Given the description of an element on the screen output the (x, y) to click on. 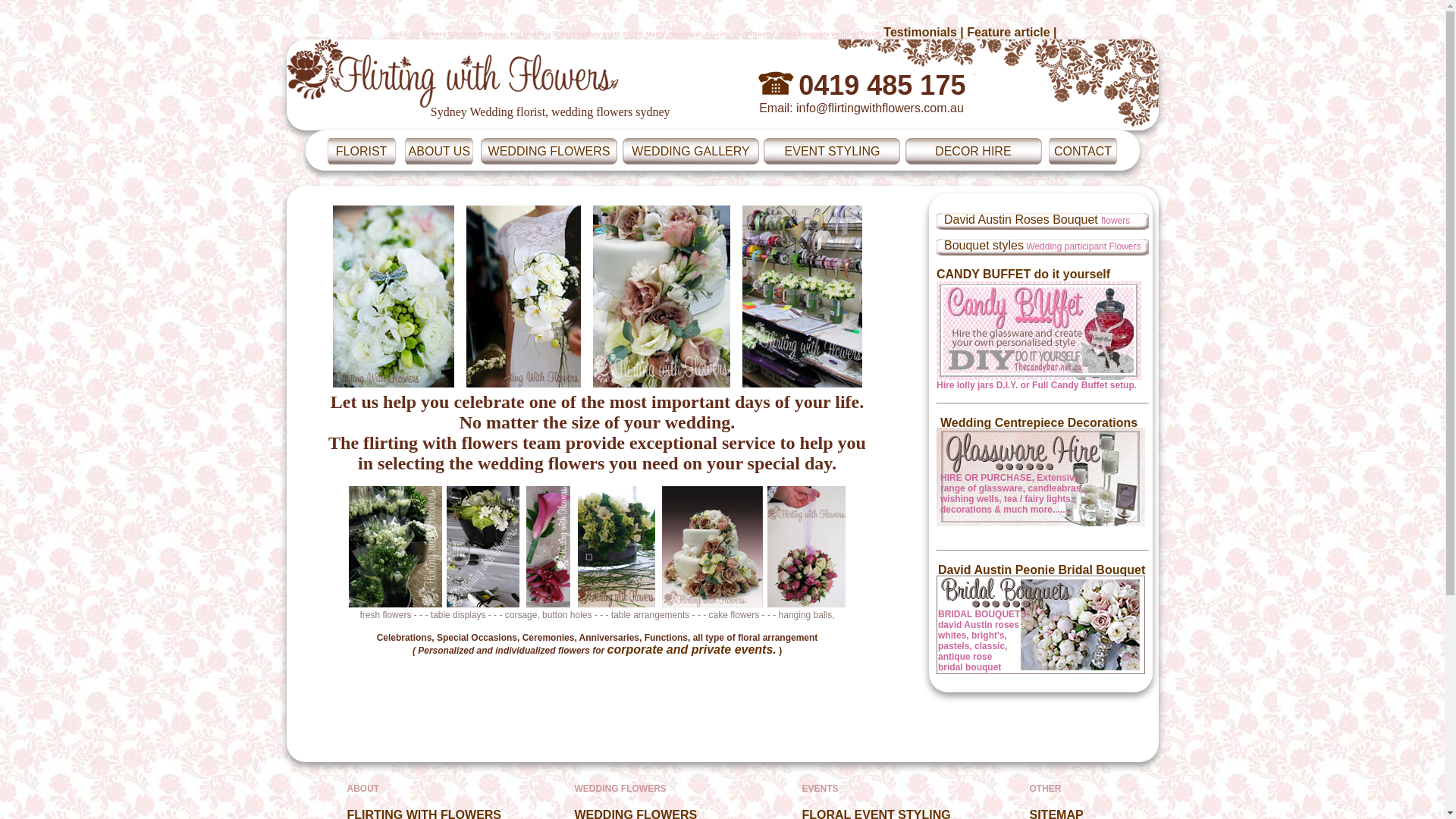
corporate and private events. Element type: text (691, 649)
EVENT STYLING Element type: text (832, 150)
Google conversion frame Element type: hover (81, 15)
CONTACT Element type: text (1082, 150)
ABOUT US Element type: text (439, 150)
DECOR HIRE Element type: text (972, 150)
WEDDING GALLERY Element type: text (690, 150)
Feature article | Element type: text (1011, 31)
David Austin Roses Bouquet Element type: text (1022, 219)
WEDDING FLOWERS Element type: text (549, 150)
David Austin Peonie Bridal Bouquet Element type: text (1041, 569)
Bouquet styles Element type: text (983, 244)
Testimonials | Element type: text (924, 31)
FLORIST Element type: text (361, 150)
Wedding Centrepiece Decorations Element type: text (1038, 422)
CANDY BUFFET do it yourself Element type: text (1038, 324)
